Given the description of an element on the screen output the (x, y) to click on. 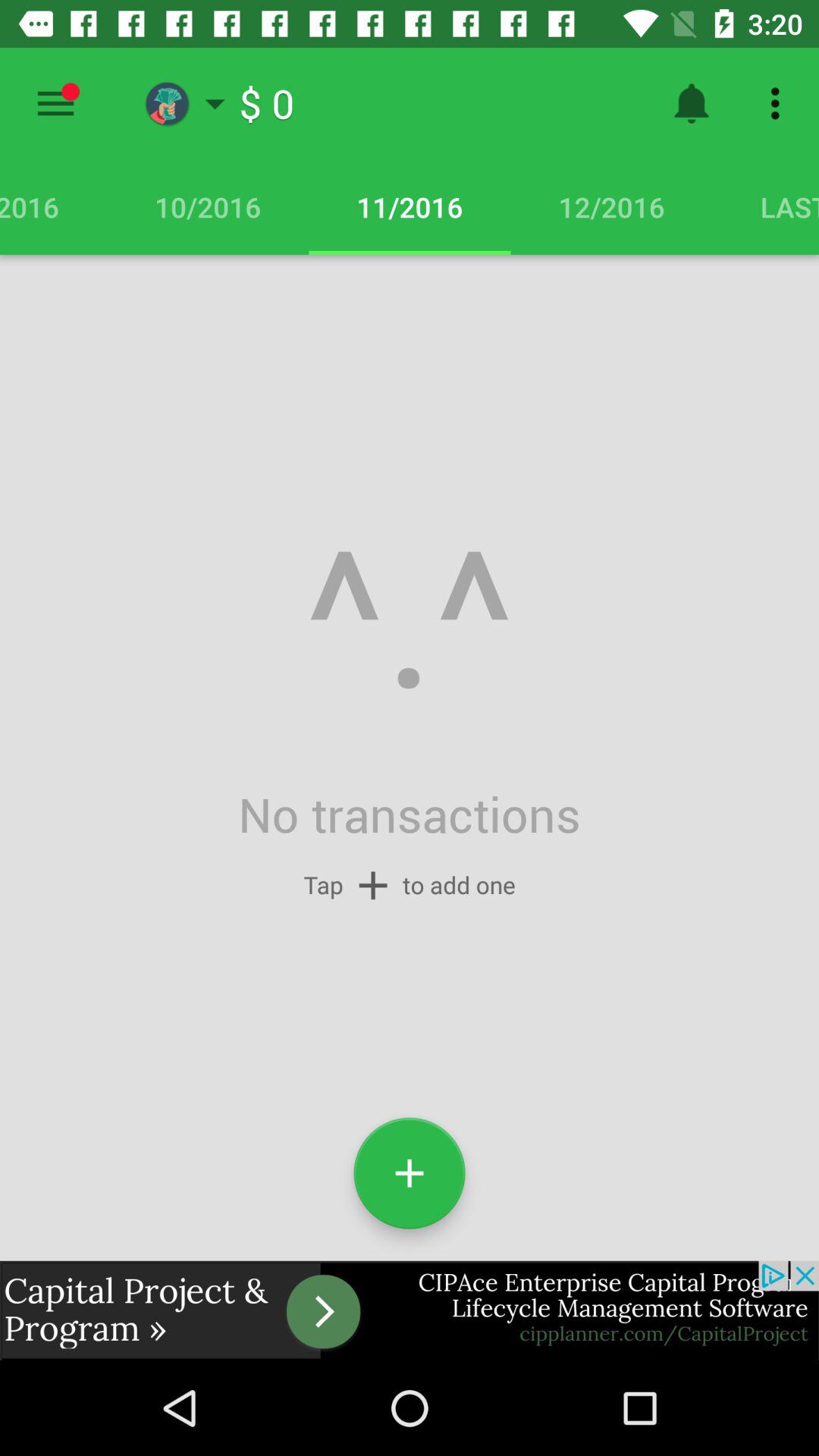
open menu (55, 103)
